Given the description of an element on the screen output the (x, y) to click on. 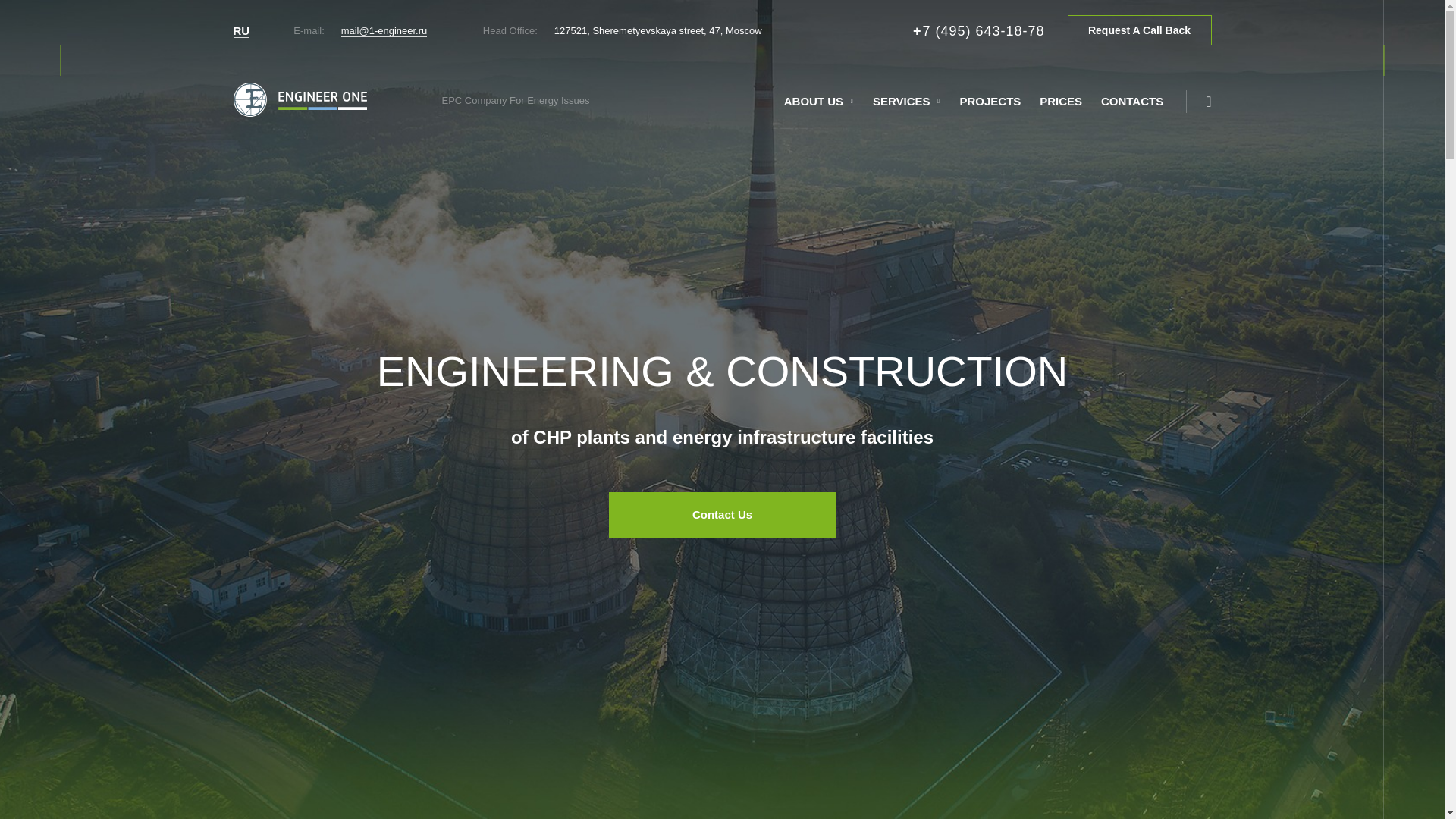
SERVICES (901, 101)
PROJECTS (989, 101)
PRICES (1060, 101)
CONTACTS (1131, 101)
Request A Call Back (1139, 30)
ABOUT US (813, 101)
RU (241, 30)
Contact Us (721, 514)
